Given the description of an element on the screen output the (x, y) to click on. 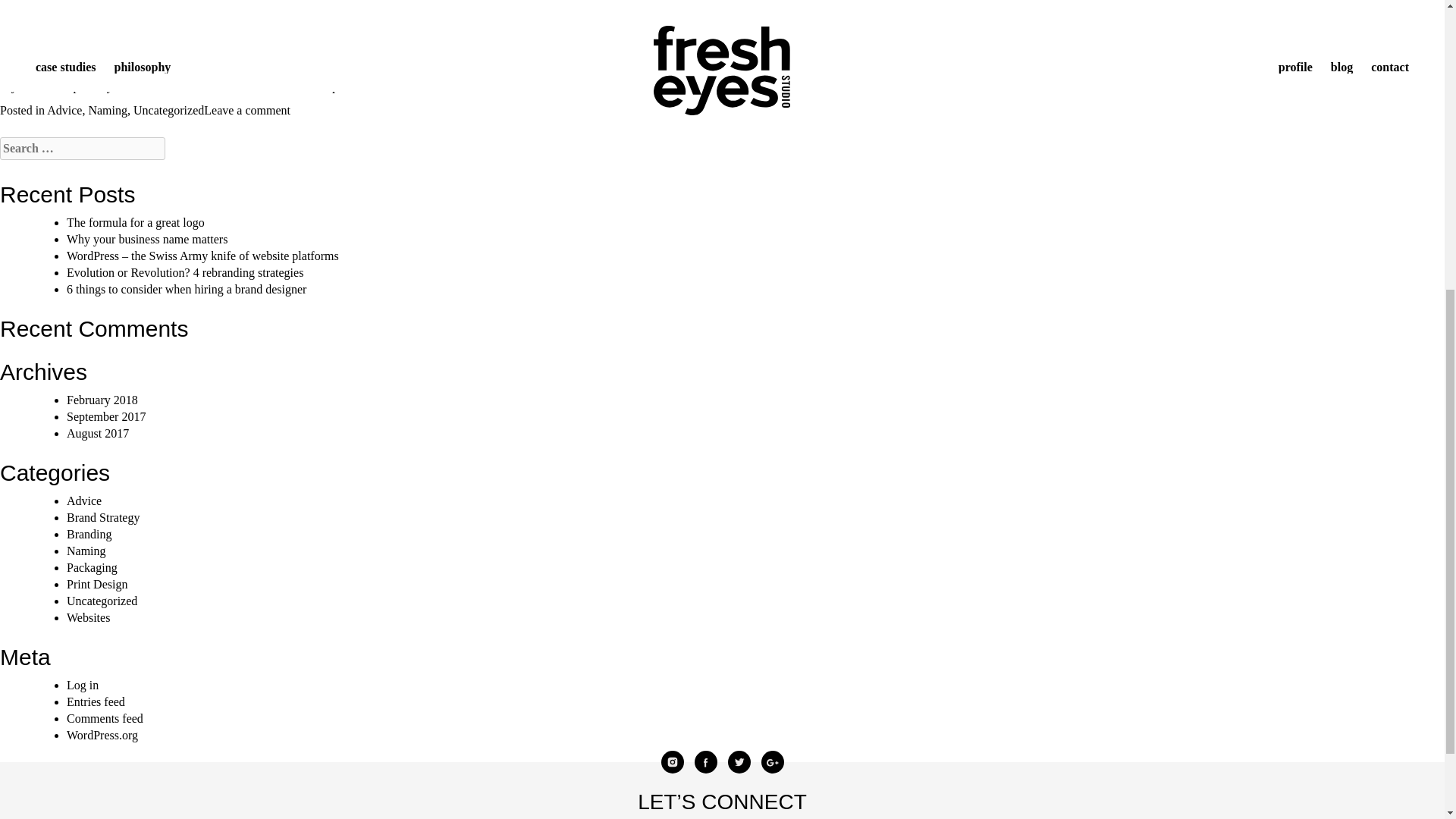
Naming (86, 549)
Leave a comment (246, 110)
Advice (83, 499)
Uncategorized (101, 599)
Uncategorized (168, 110)
August 2017 (97, 432)
Branding (89, 533)
contact us (254, 85)
Evolution or Revolution? 4 rebranding strategies (184, 272)
Why your business name matters (146, 238)
Brand Strategy (102, 516)
6 things to consider when hiring a brand designer (185, 288)
The formula for a great logo (135, 222)
Packaging (91, 566)
Print Design (97, 583)
